Given the description of an element on the screen output the (x, y) to click on. 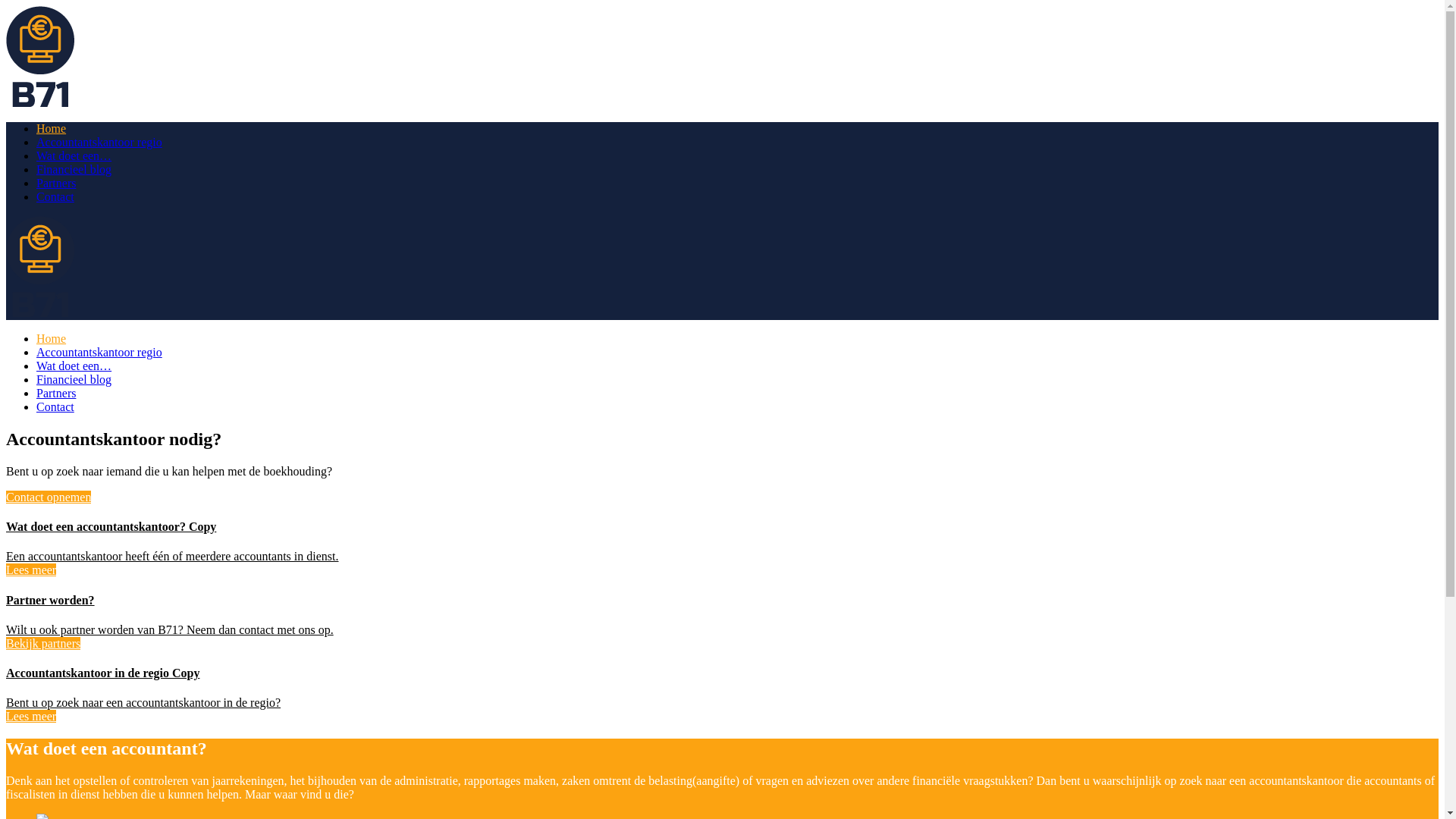
Accountantskantoor regio Element type: text (99, 141)
Contact opnemen Element type: text (48, 496)
Contact Element type: text (55, 196)
Financieel blog Element type: text (73, 379)
Accountantskantoor regio Element type: text (99, 351)
Partners Element type: text (55, 182)
Financieel blog Element type: text (73, 169)
Bekijk partners Element type: text (43, 643)
Home Element type: text (50, 128)
Lees meer Element type: text (31, 715)
Contact Element type: text (55, 406)
Partners Element type: text (55, 392)
Home Element type: text (50, 338)
Lees meer Element type: text (31, 569)
